Given the description of an element on the screen output the (x, y) to click on. 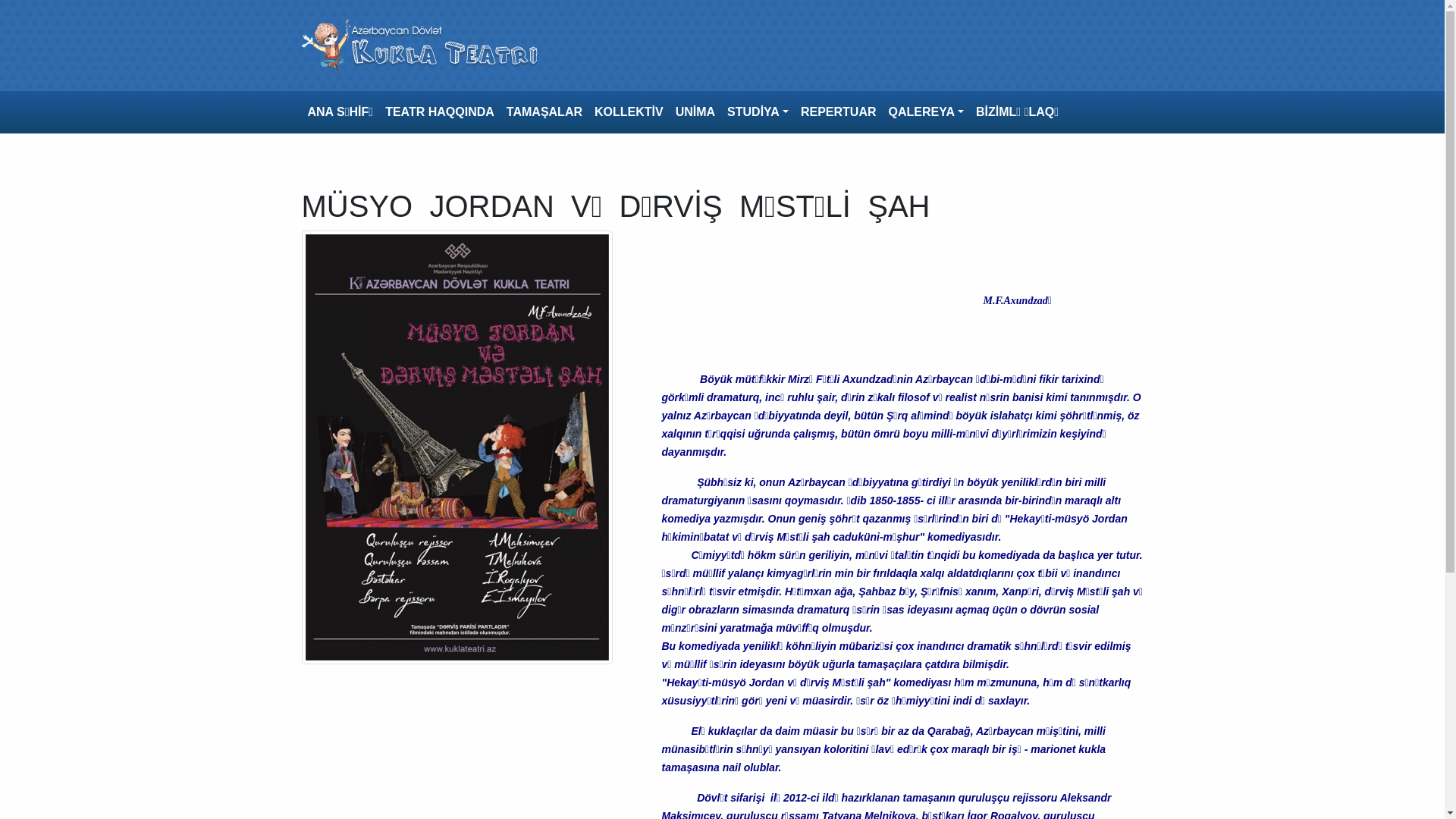
REPERTUAR Element type: text (838, 112)
QALEREYA Element type: text (926, 112)
TEATR HAQQINDA Element type: text (439, 112)
